Given the description of an element on the screen output the (x, y) to click on. 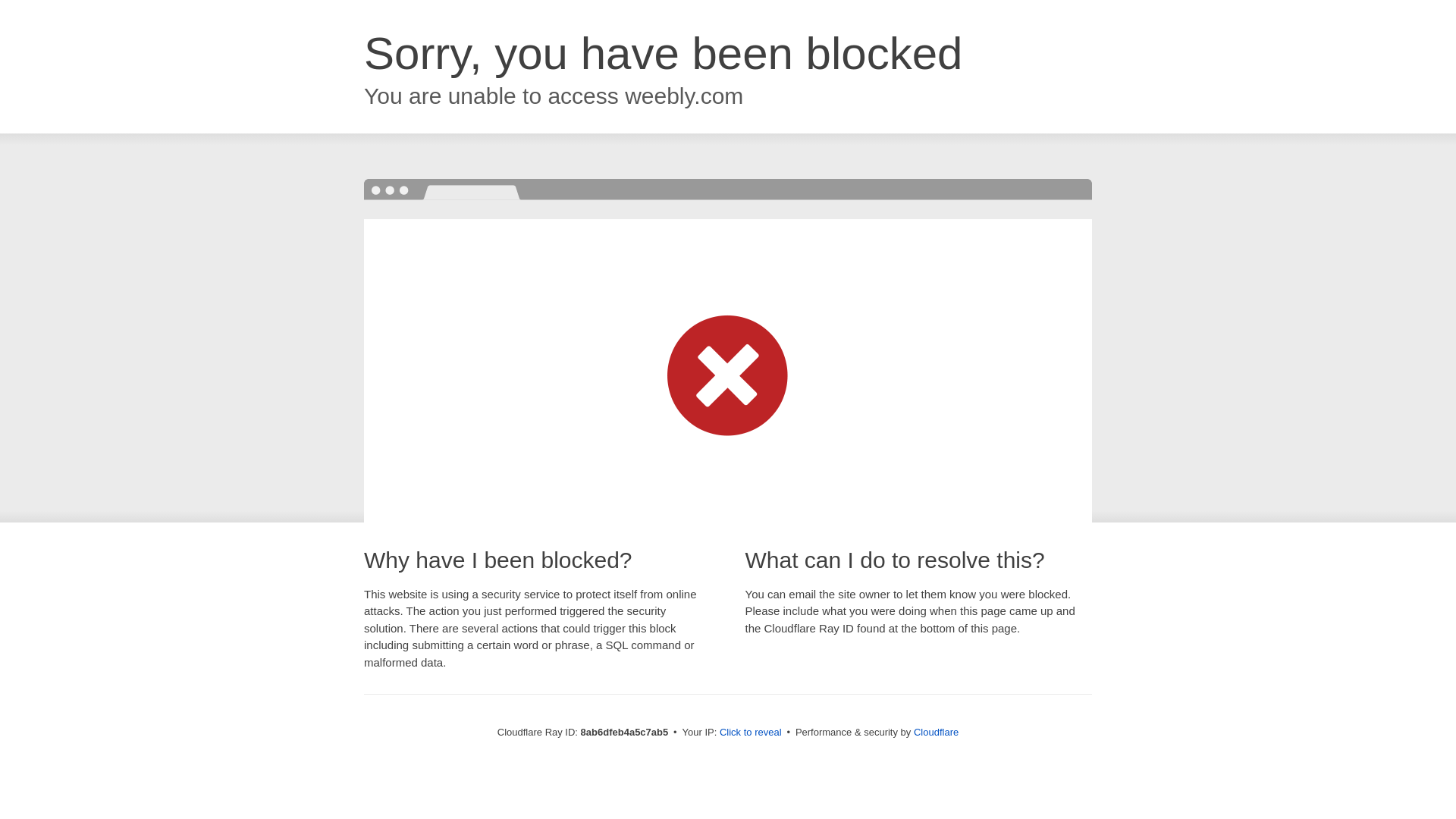
Click to reveal (750, 732)
Cloudflare (936, 731)
